Given the description of an element on the screen output the (x, y) to click on. 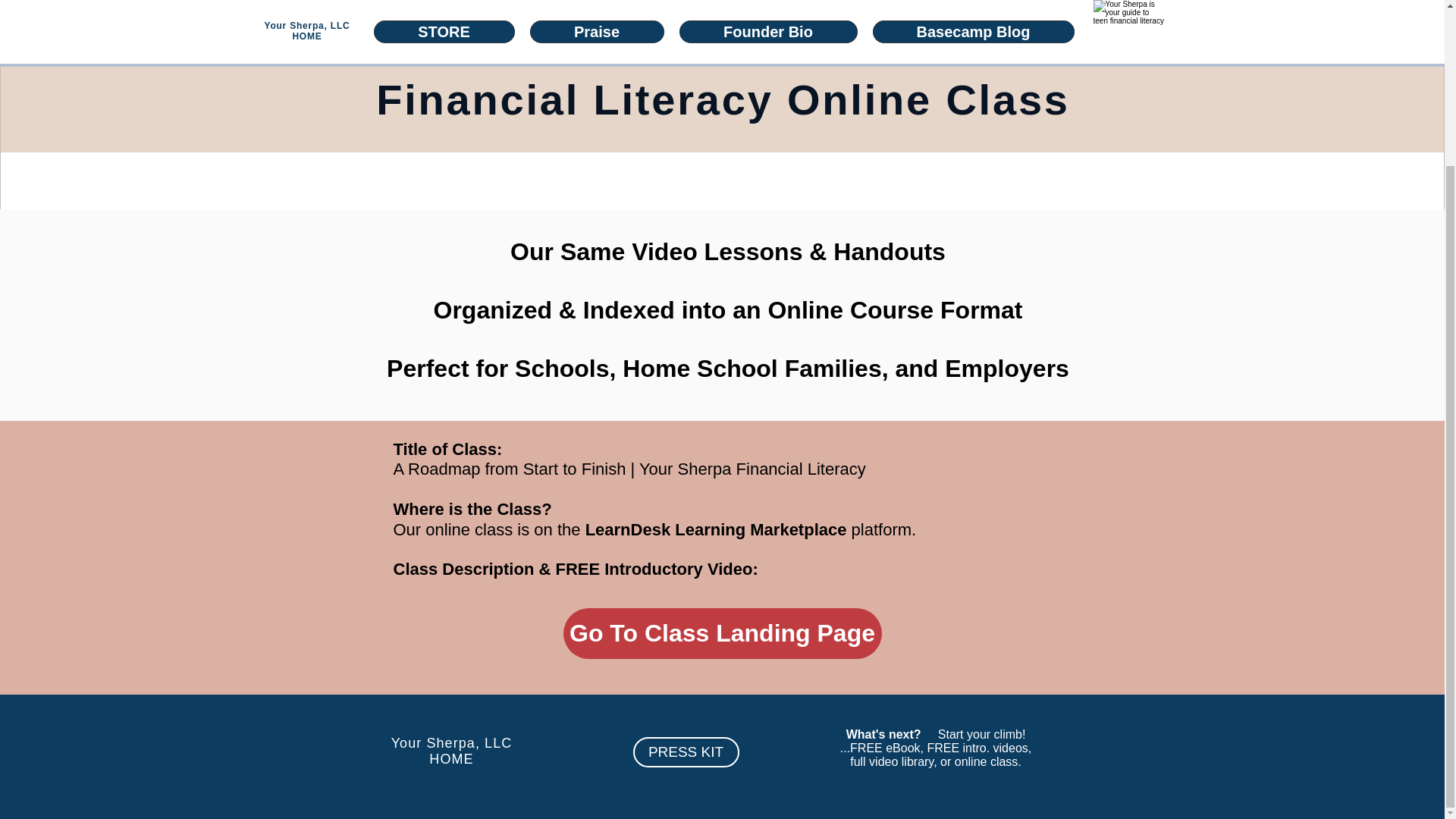
Go To Class Landing Page (721, 633)
PRESS KIT (451, 750)
